Given the description of an element on the screen output the (x, y) to click on. 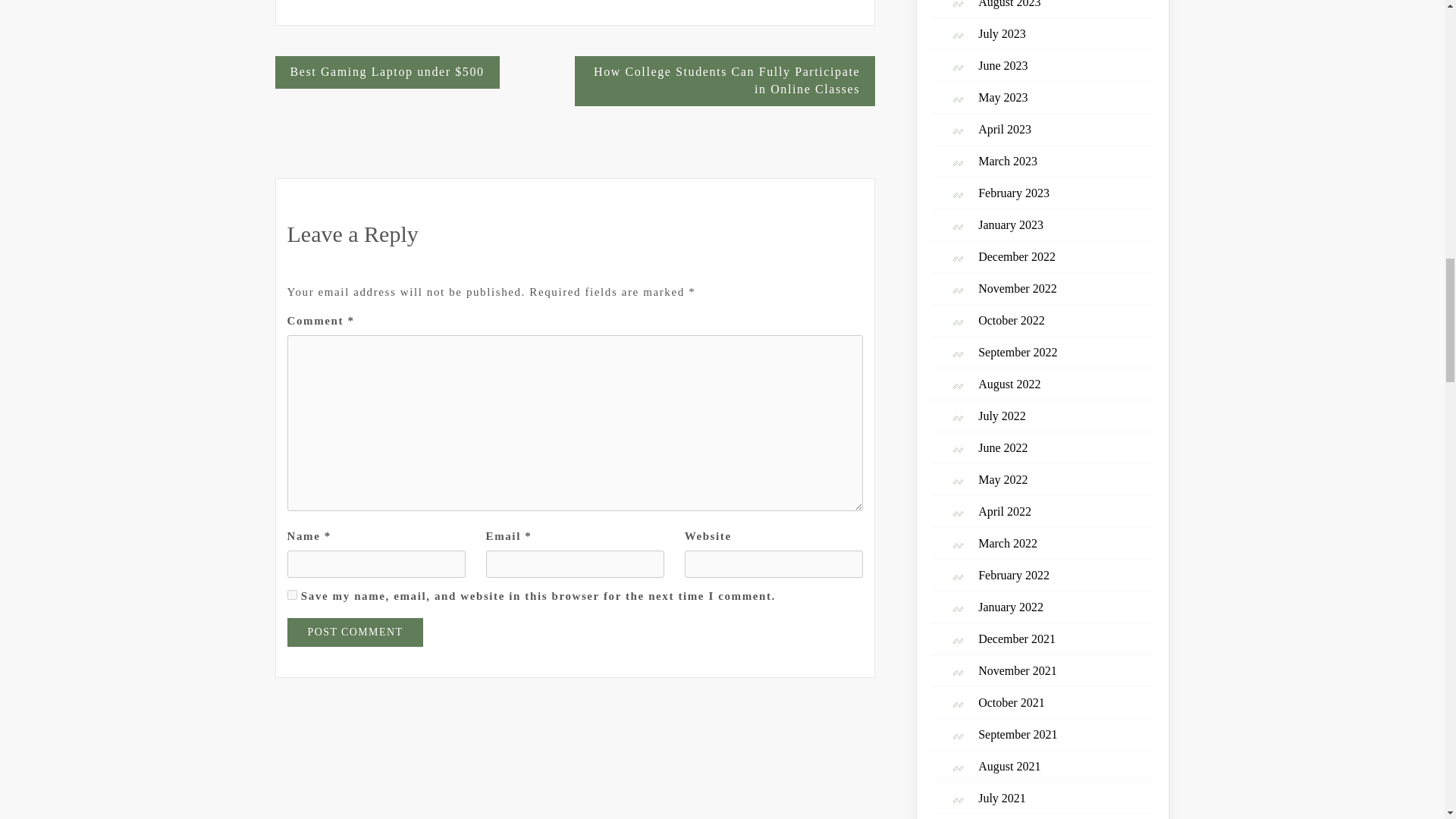
yes (291, 594)
How College Students Can Fully Participate in Online Classes (725, 81)
Post Comment (354, 632)
Post Comment (354, 632)
